Given the description of an element on the screen output the (x, y) to click on. 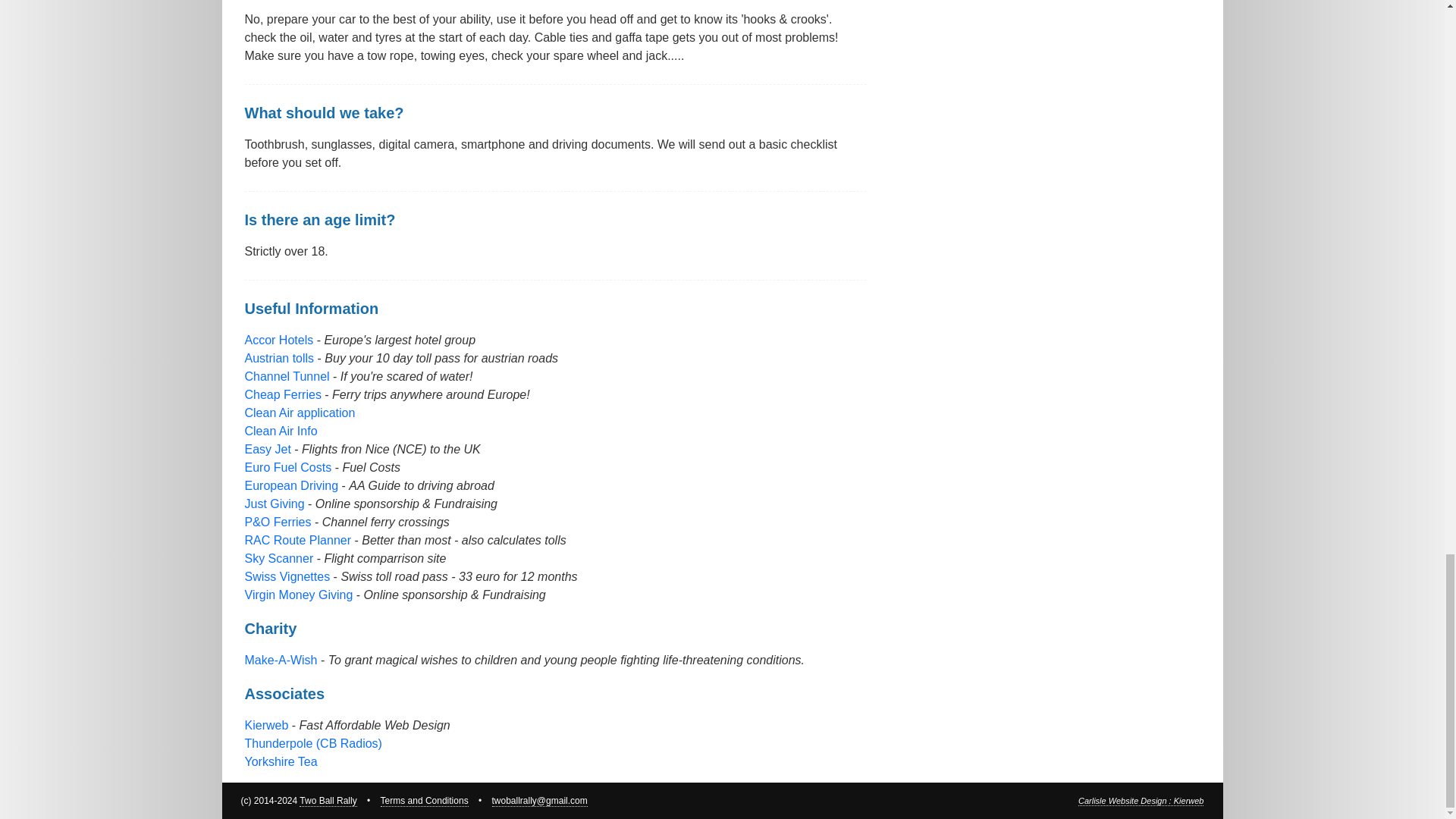
Website designed and developed by Kierweb (1141, 800)
